Given the description of an element on the screen output the (x, y) to click on. 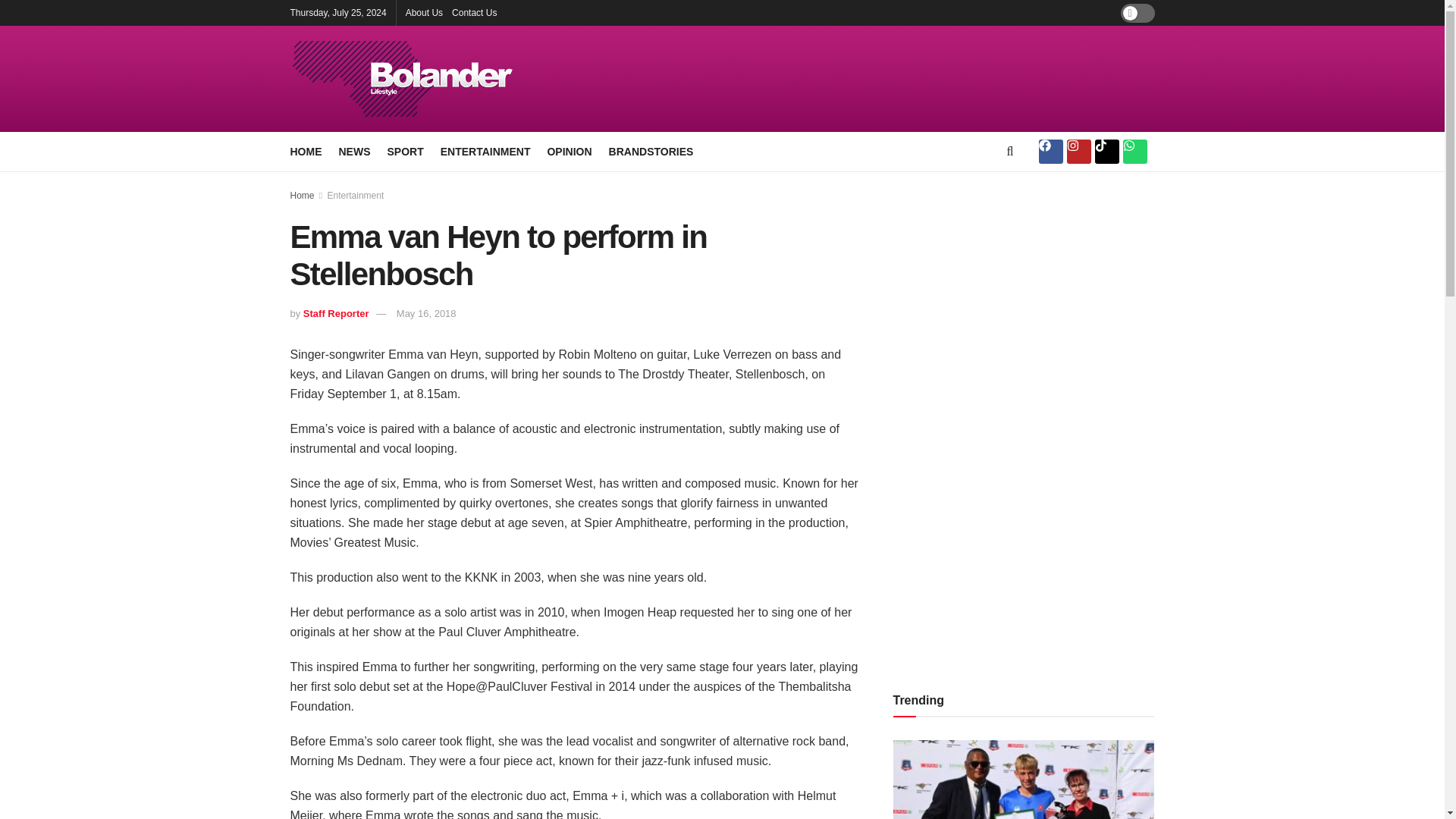
NEWS (353, 151)
Home (301, 195)
May 16, 2018 (426, 313)
HOME (305, 151)
Contact Us (473, 12)
Staff Reporter (335, 313)
3rd party ad content (888, 79)
Entertainment (355, 195)
SPORT (405, 151)
BRANDSTORIES (651, 151)
About Us (424, 12)
OPINION (569, 151)
ENTERTAINMENT (486, 151)
